Given the description of an element on the screen output the (x, y) to click on. 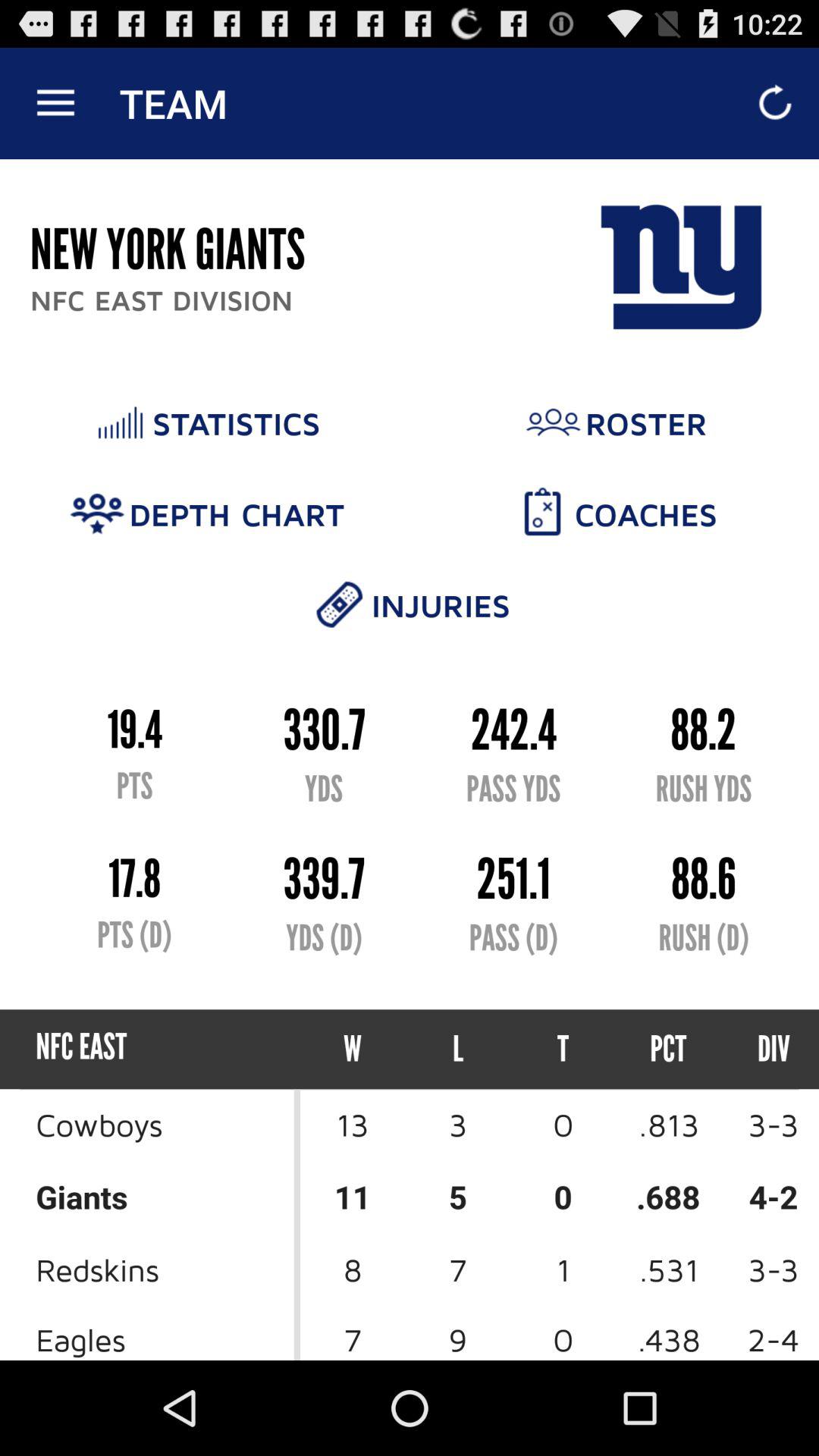
turn on w icon (352, 1049)
